Given the description of an element on the screen output the (x, y) to click on. 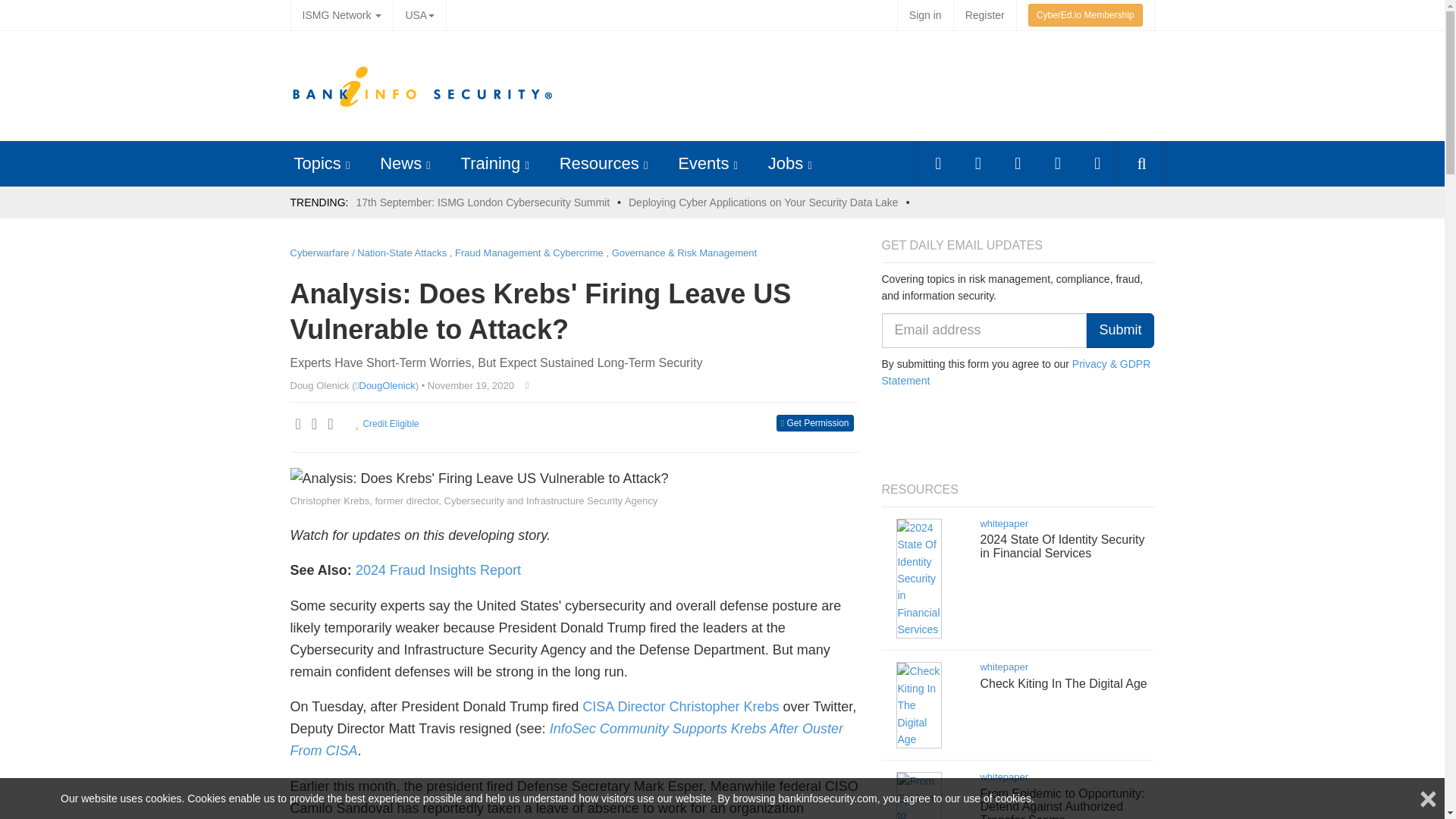
Topics (317, 162)
Sign in (925, 15)
Register (984, 15)
USA (418, 15)
CyberEd.io Membership (1084, 15)
ISMG Network (341, 15)
